Given the description of an element on the screen output the (x, y) to click on. 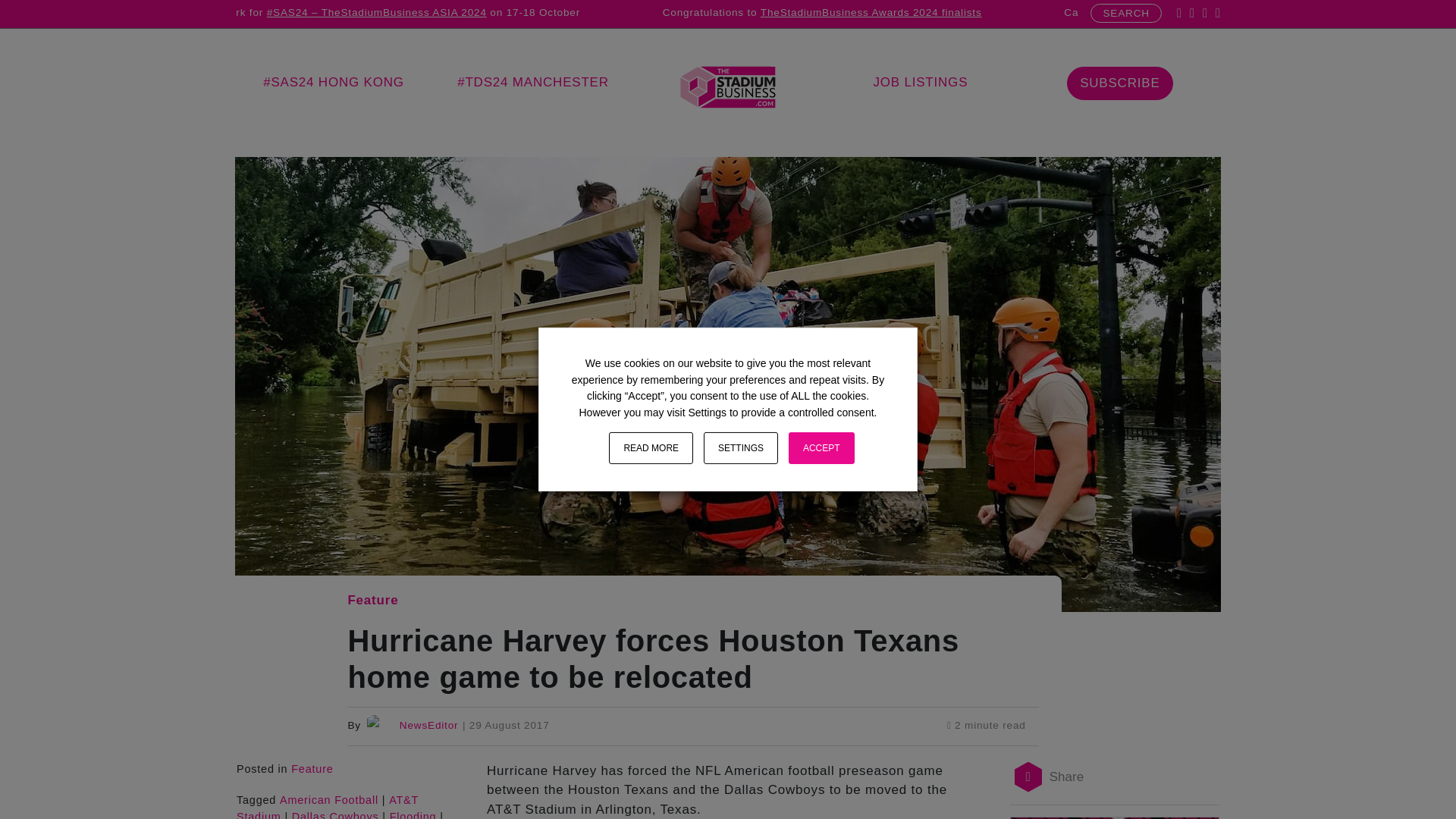
Subscribe (1119, 82)
Job Listings (920, 82)
